Given the description of an element on the screen output the (x, y) to click on. 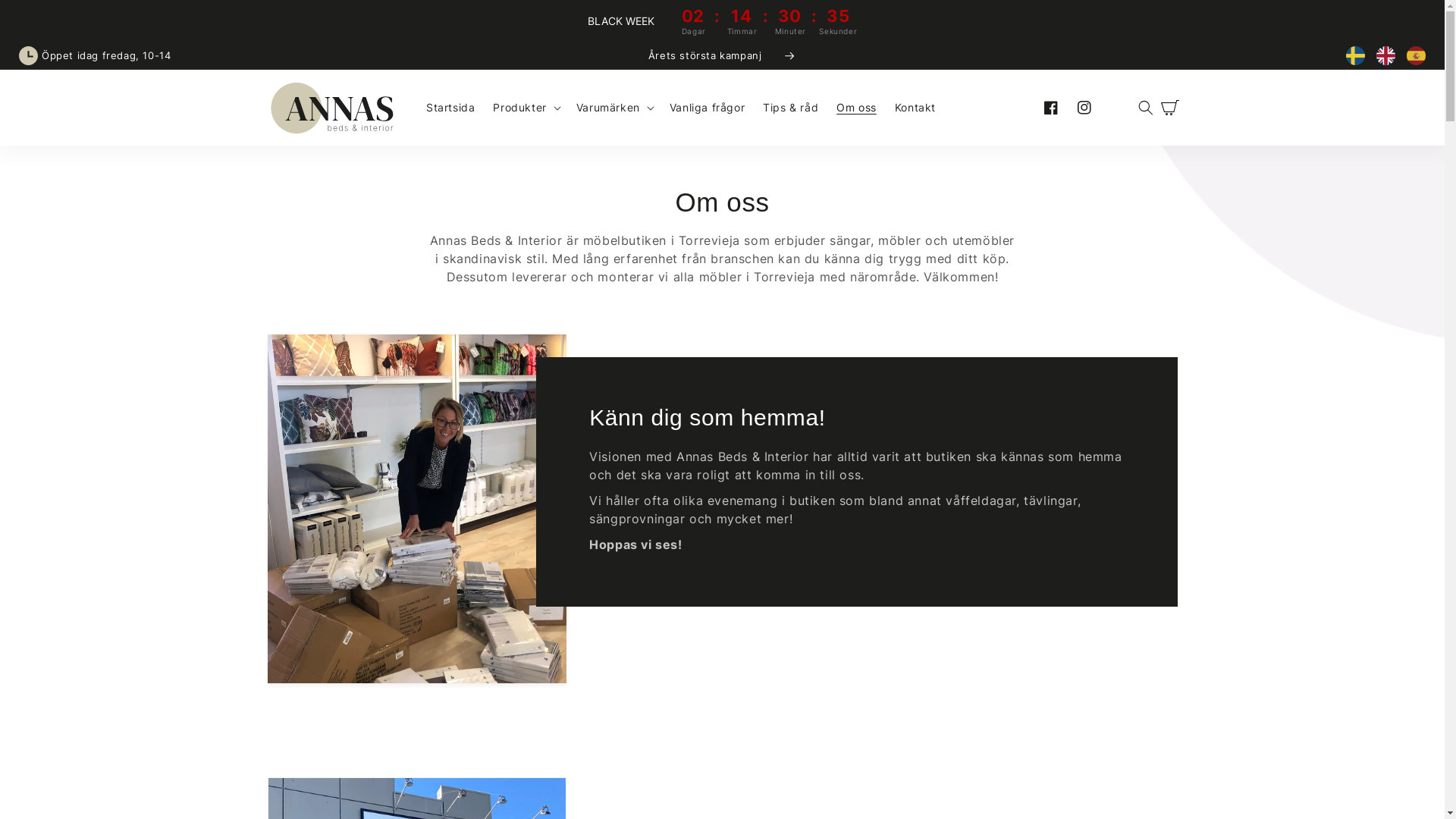
Startsida Element type: text (450, 107)
Om oss Element type: text (856, 107)
Instagram Element type: text (1084, 107)
Kontakt Element type: text (914, 107)
Facebook Element type: text (1050, 107)
Varukorg Element type: text (1169, 107)
